Given the description of an element on the screen output the (x, y) to click on. 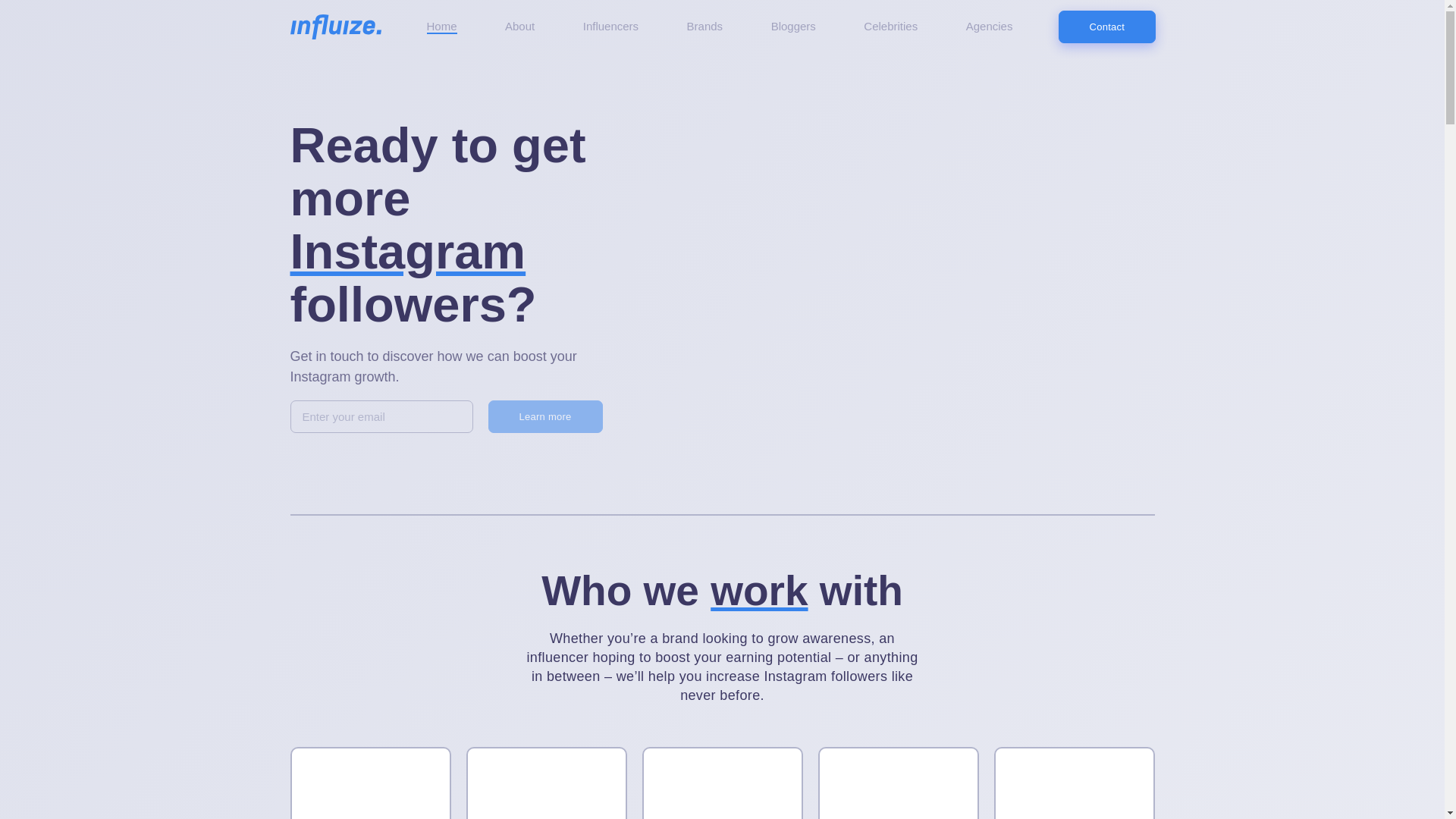
Agencies (989, 26)
Brands (545, 782)
Influencers (369, 782)
Learn more (544, 416)
Bloggers (1073, 782)
Agencies (722, 782)
Contact (1107, 26)
Influencers (611, 26)
Celebrities (890, 26)
Brands (705, 26)
